Given the description of an element on the screen output the (x, y) to click on. 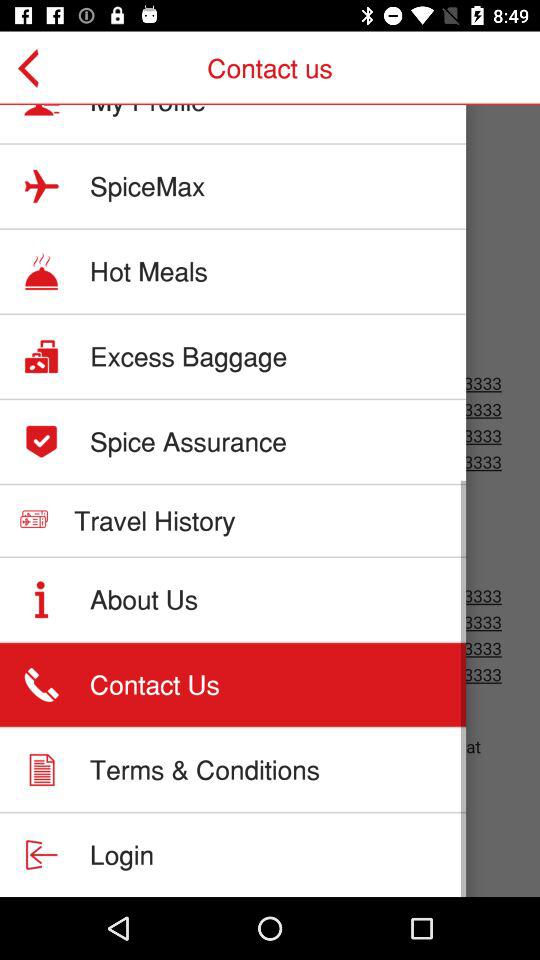
contact support (270, 501)
